Given the description of an element on the screen output the (x, y) to click on. 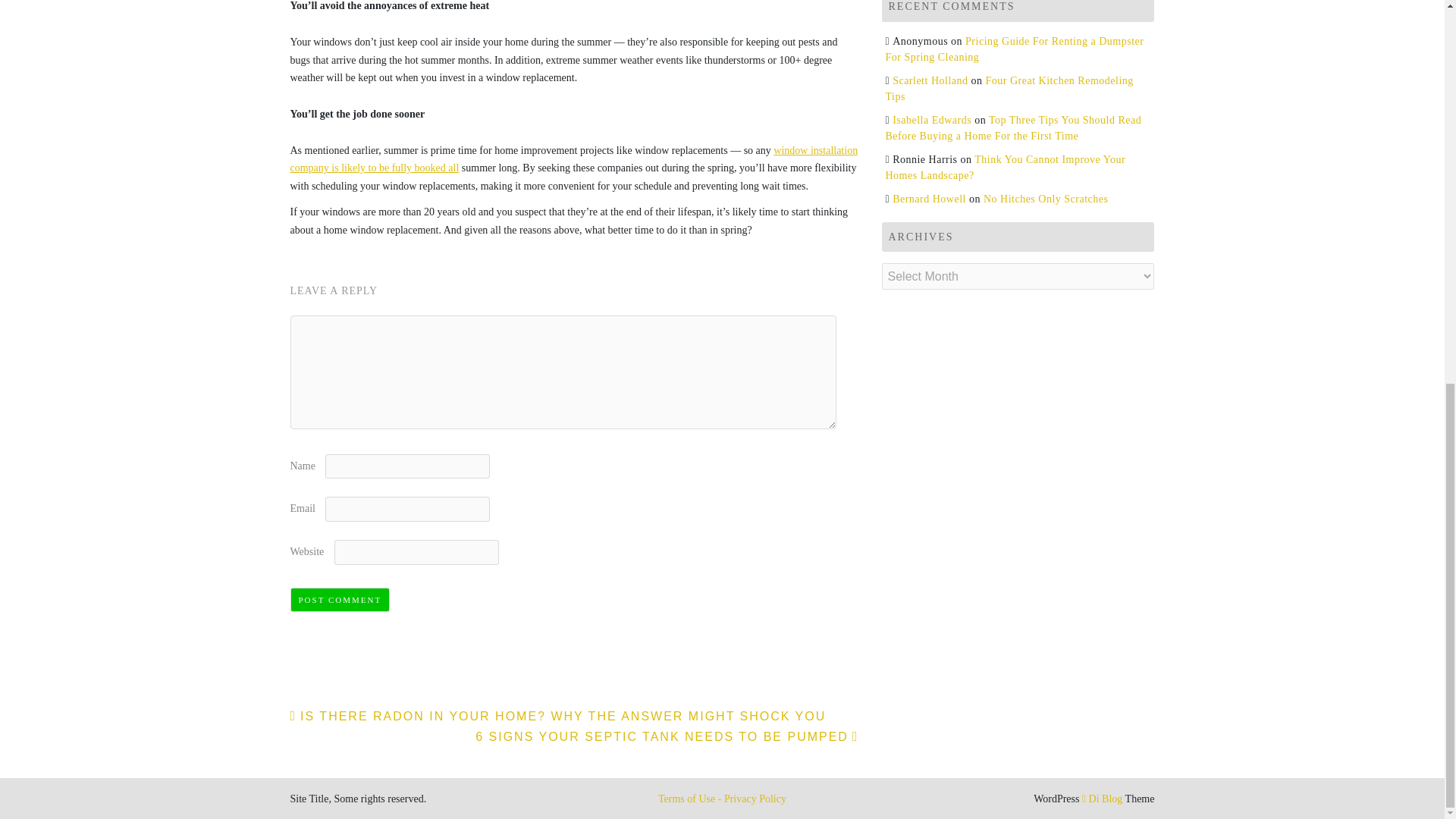
Post Comment (339, 600)
Window companies in chicago, Chicago window installation (573, 159)
Isabella Edwards (931, 120)
Scarlett Holland (930, 80)
IS THERE RADON IN YOUR HOME? WHY THE ANSWER MIGHT SHOCK YOU (557, 716)
Pricing Guide For Renting a Dumpster For Spring Cleaning (1014, 49)
Four Great Kitchen Remodeling Tips (1009, 88)
window installation company is likely to be fully booked all (573, 159)
Post Comment (339, 600)
6 SIGNS YOUR SEPTIC TANK NEEDS TO BE PUMPED (667, 736)
